Given the description of an element on the screen output the (x, y) to click on. 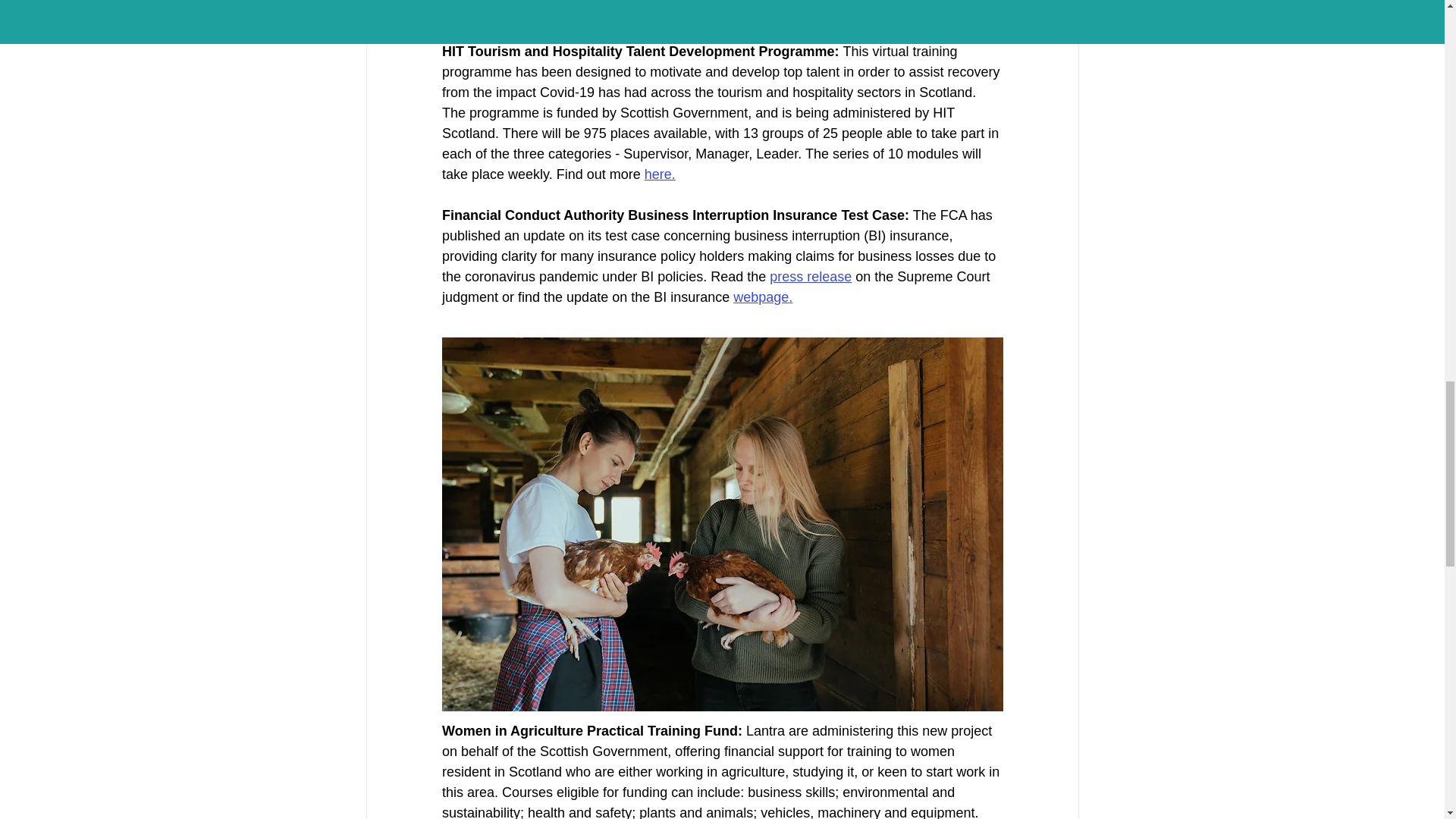
here. (659, 174)
here. (569, 10)
press release (810, 276)
webpage (761, 296)
